Given the description of an element on the screen output the (x, y) to click on. 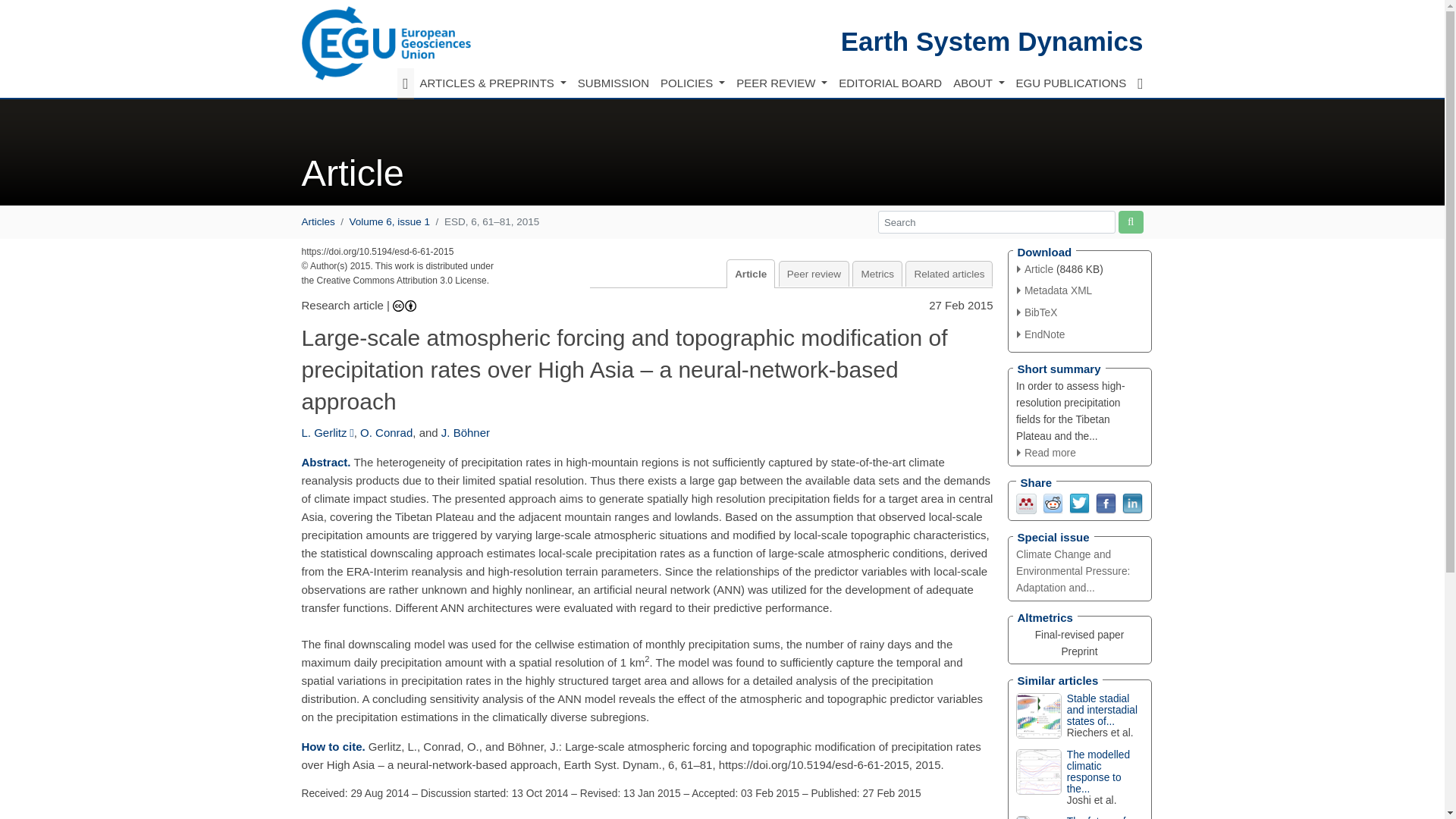
Mendeley (1026, 502)
Twitter (1078, 502)
Reddit (1052, 502)
XML Version (1054, 290)
SUBMISSION (612, 83)
PEER REVIEW (781, 83)
Earth System Dynamics (991, 41)
POLICIES (691, 83)
Start site search (1130, 221)
